Given the description of an element on the screen output the (x, y) to click on. 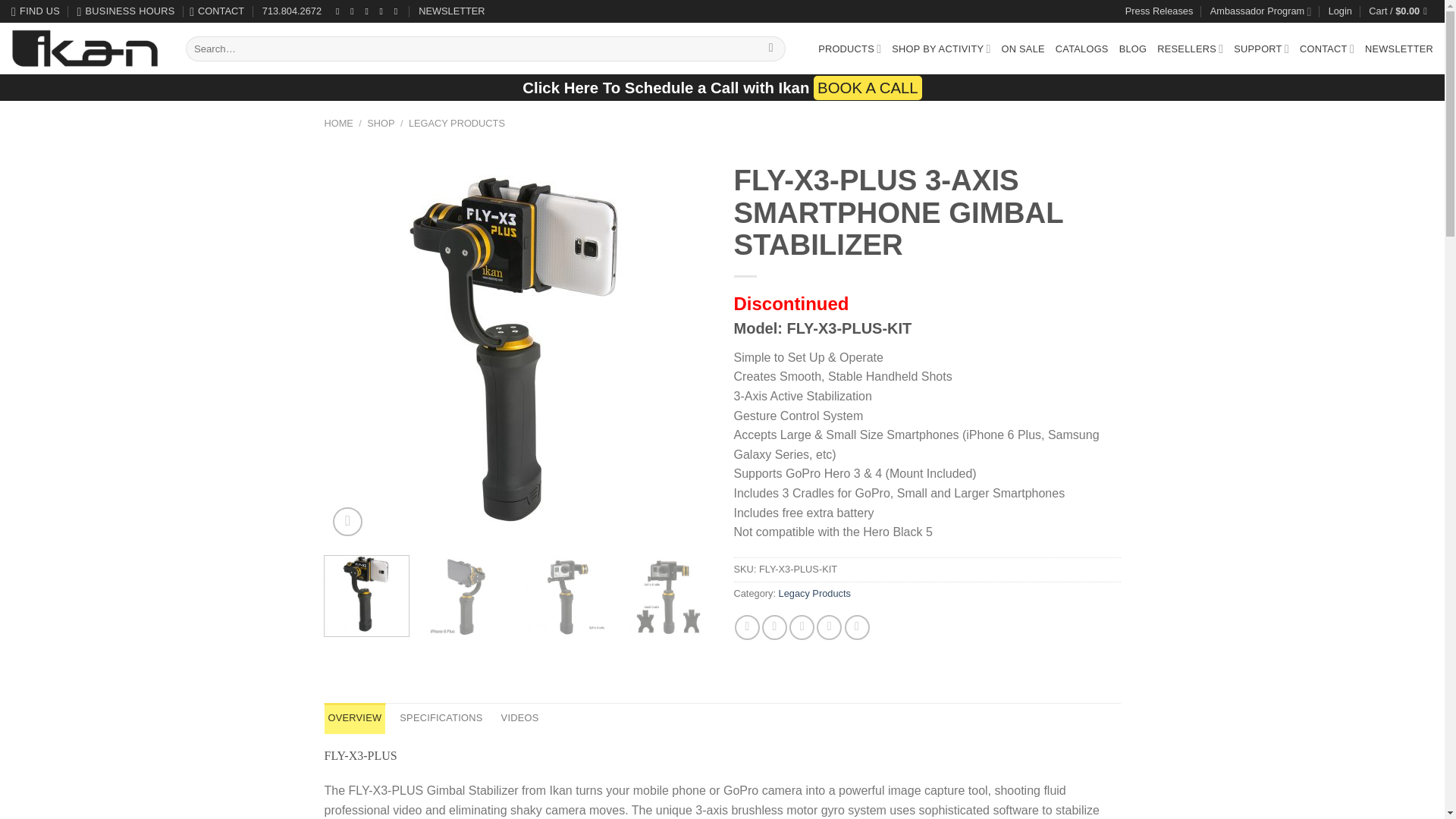
Search (770, 49)
NEWSLETTER (451, 11)
FIND US (35, 11)
Zoom (347, 521)
Email to a Friend (801, 627)
10207 S. Sam Houston Pkwy W. Suite 140 Houston TX, 77071 (35, 11)
Ambassador Program (1260, 11)
SHOP BY ACTIVITY (940, 48)
BUSINESS HOURS (125, 11)
713.804.2672 (294, 11)
Share on Twitter (774, 627)
Login (1339, 11)
Cart (1400, 11)
CONTACT (218, 11)
Press Releases (1159, 11)
